Given the description of an element on the screen output the (x, y) to click on. 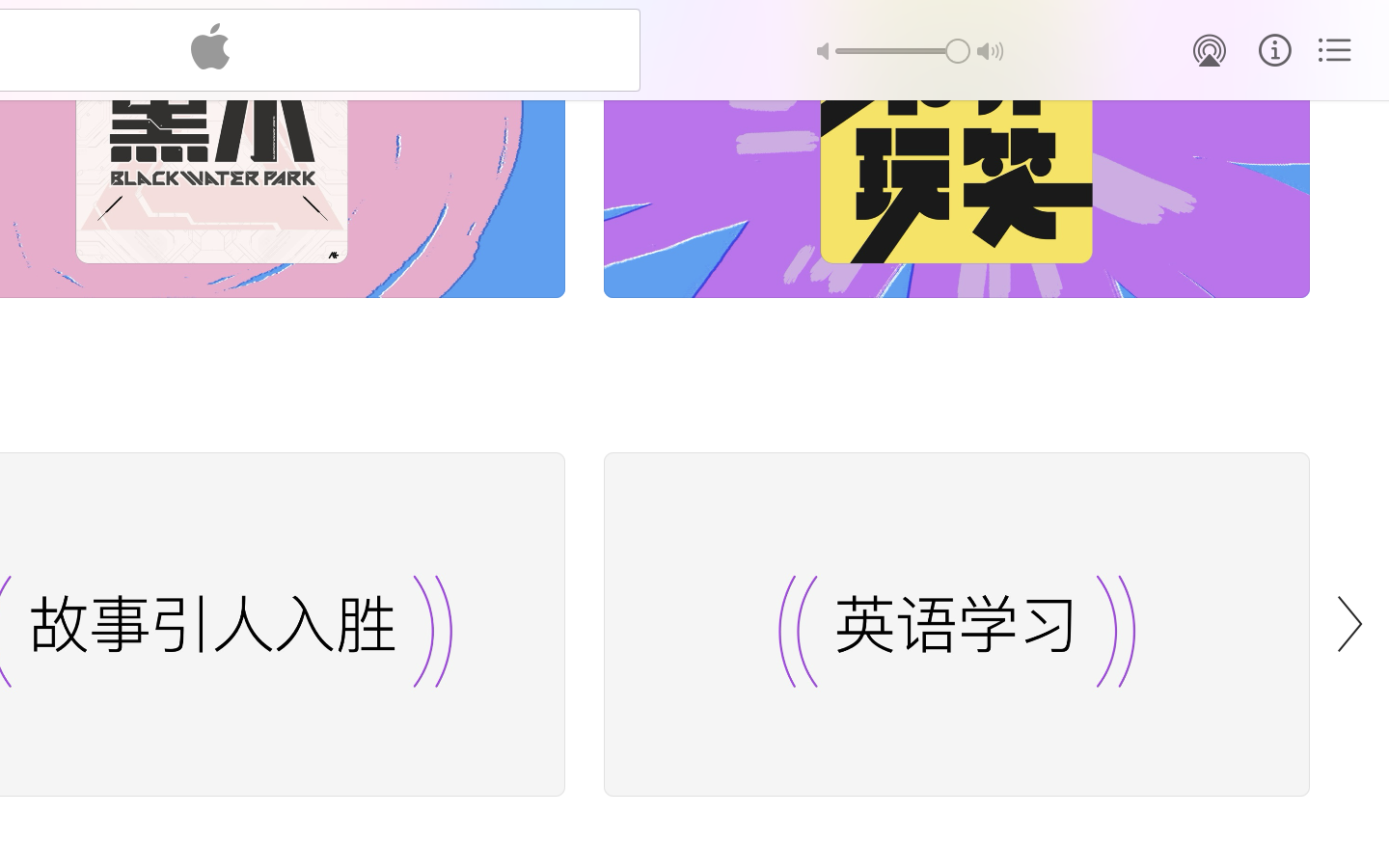
1.0 Element type: AXSlider (902, 50)
